Given the description of an element on the screen output the (x, y) to click on. 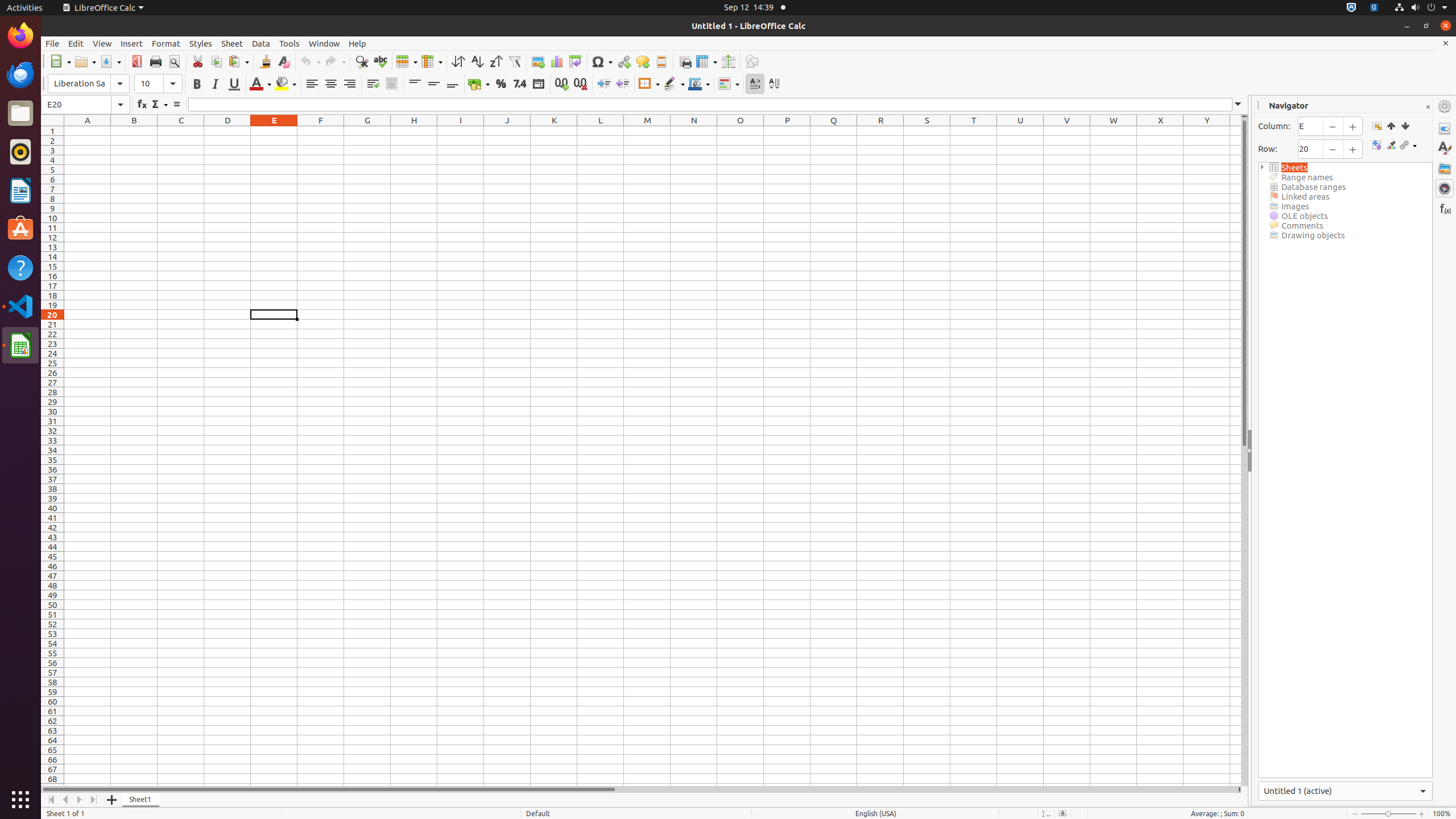
Data Element type: menu (260, 43)
K1 Element type: table-cell (553, 130)
Undo Element type: push-button (309, 61)
Data Range Element type: push-button (1376, 125)
Styles Element type: radio-button (1444, 148)
